Given the description of an element on the screen output the (x, y) to click on. 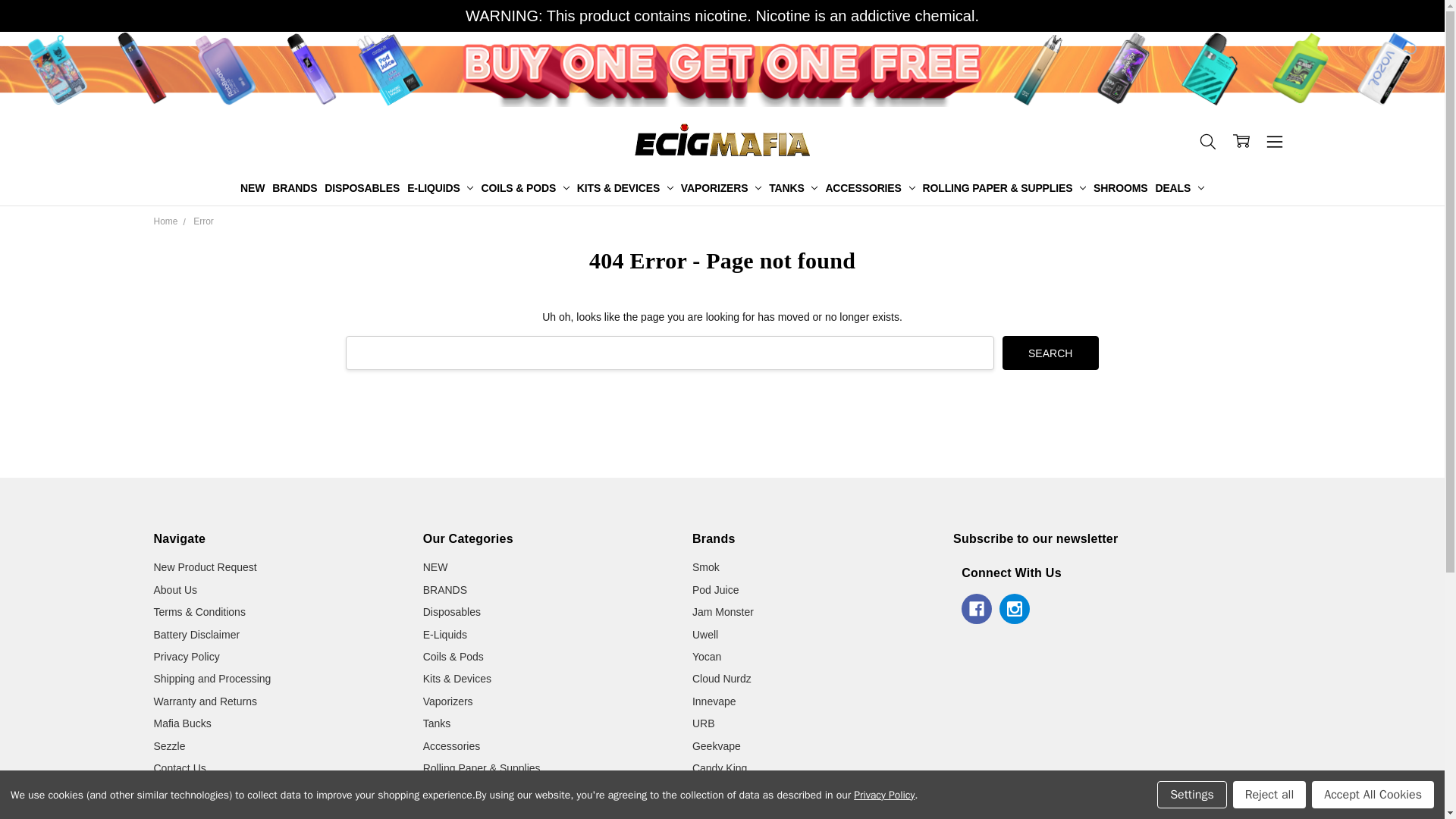
ECigMafia (721, 140)
DISPOSABLES (361, 188)
E-LIQUIDS (440, 188)
NEW (251, 188)
BRANDS (293, 188)
Search (1051, 352)
Show All (733, 188)
